Given the description of an element on the screen output the (x, y) to click on. 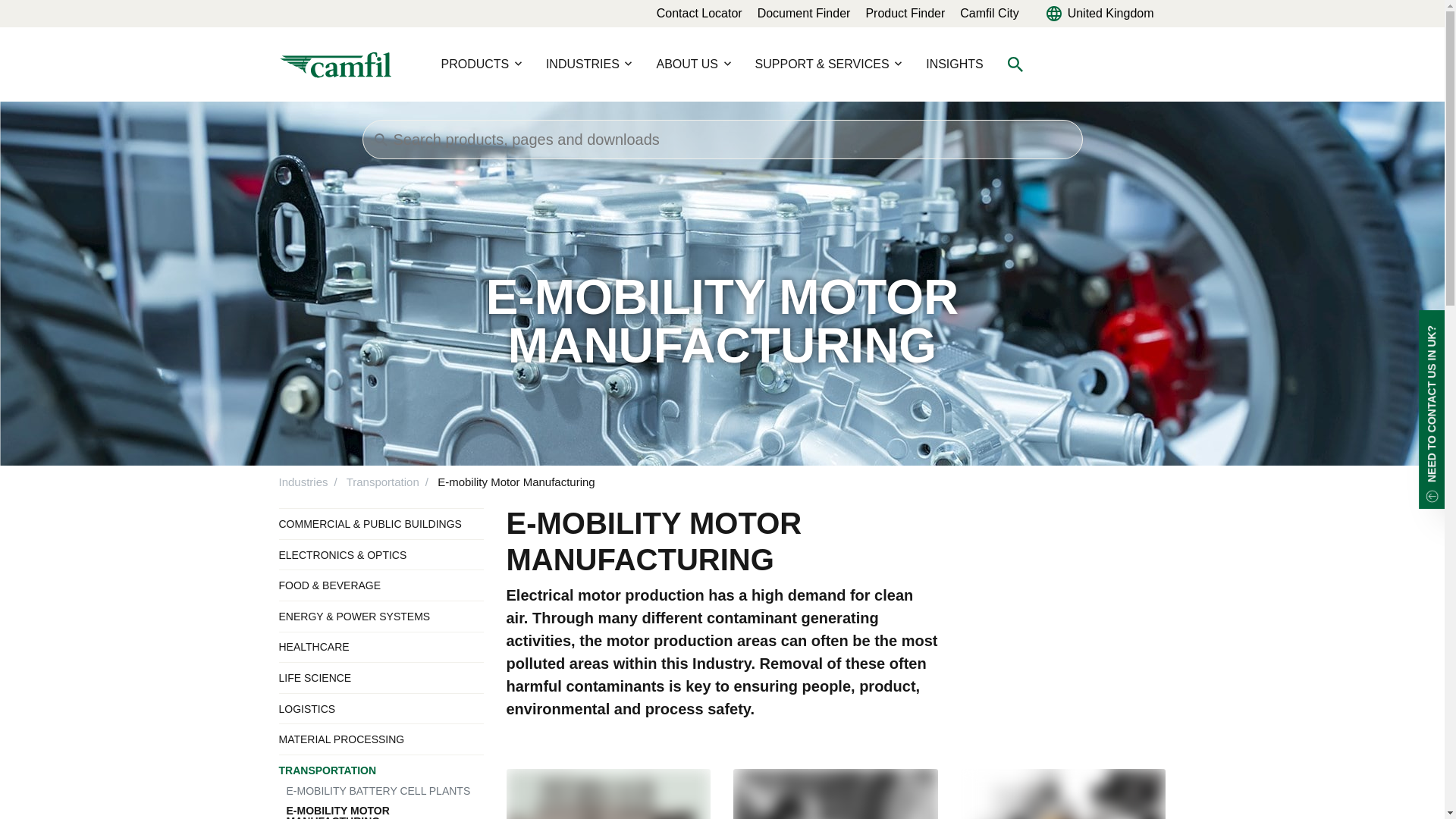
Contact Locator (699, 12)
Document Finder (803, 12)
United Kingdom (1099, 13)
Camfil City (988, 12)
Product Finder (904, 12)
